Given the description of an element on the screen output the (x, y) to click on. 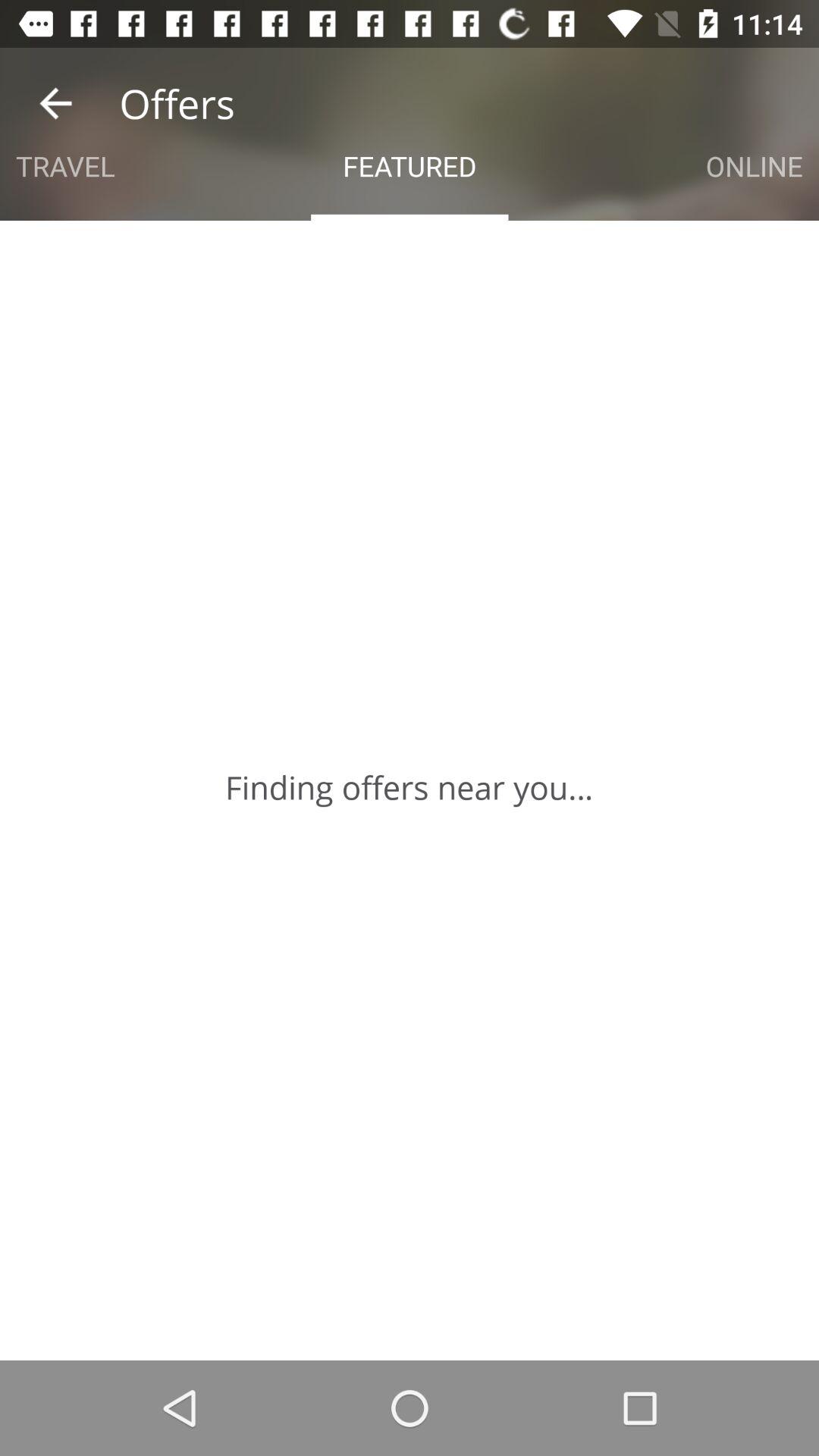
turn off the travel (64, 165)
